Given the description of an element on the screen output the (x, y) to click on. 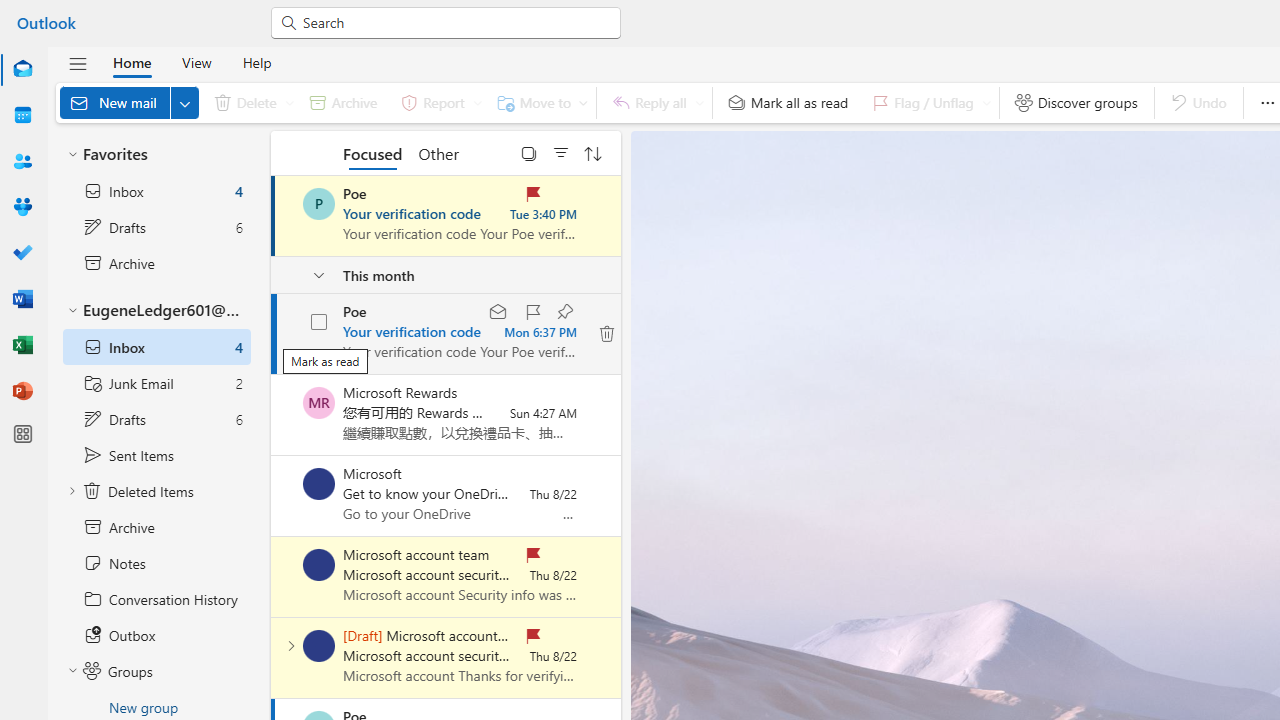
Expand conversation (291, 646)
Flag this message (530, 312)
System (10, 11)
